Given the description of an element on the screen output the (x, y) to click on. 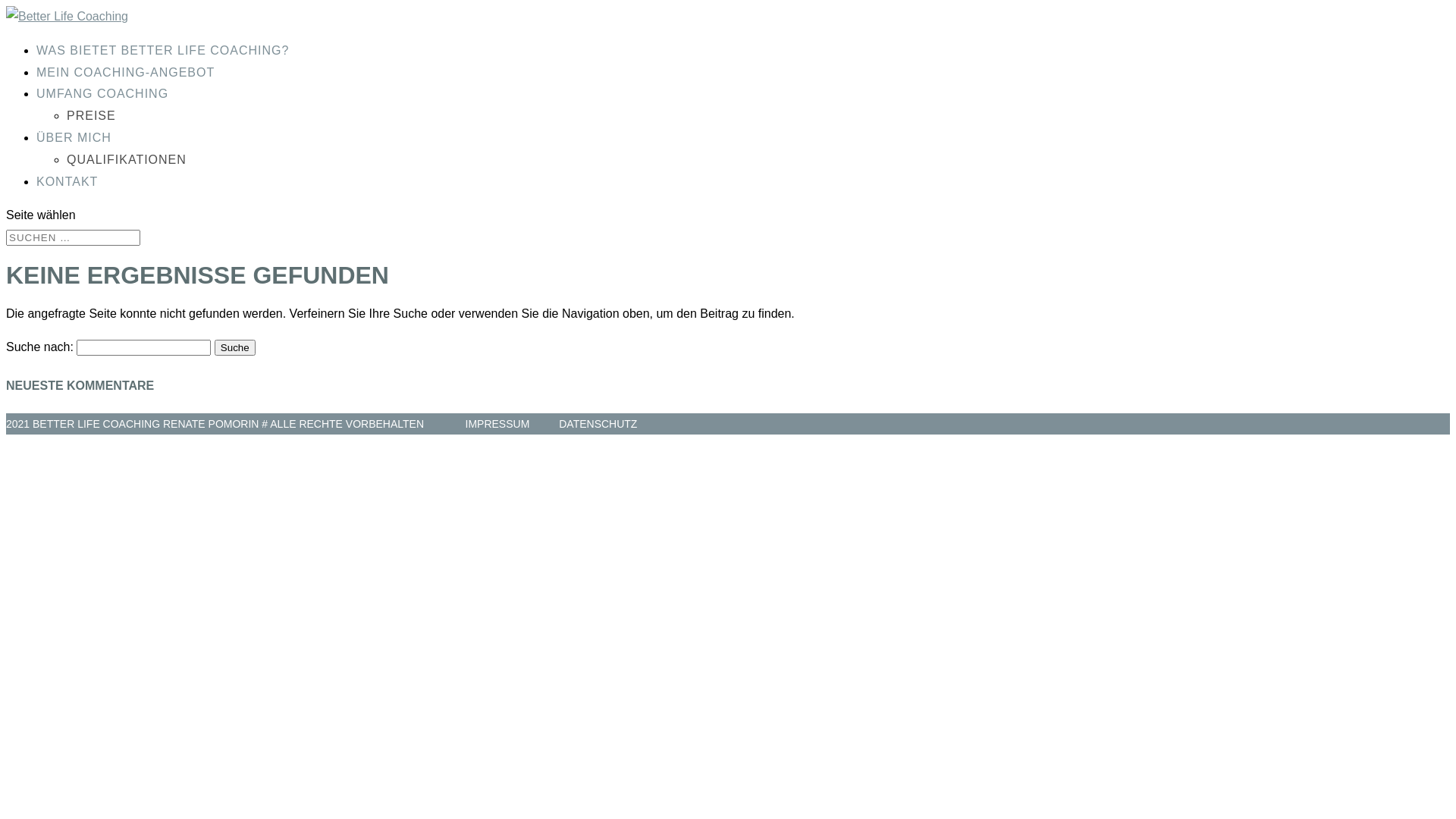
Suchen nach: Element type: hover (73, 237)
Suche Element type: text (234, 347)
MEIN COACHING-ANGEBOT Element type: text (125, 71)
DATENSCHUTZ Element type: text (597, 423)
KONTAKT Element type: text (66, 181)
PREISE Element type: text (91, 115)
UMFANG COACHING Element type: text (102, 93)
IMPRESSUM Element type: text (497, 423)
QUALIFIKATIONEN Element type: text (126, 159)
WAS BIETET BETTER LIFE COACHING? Element type: text (162, 49)
